Given the description of an element on the screen output the (x, y) to click on. 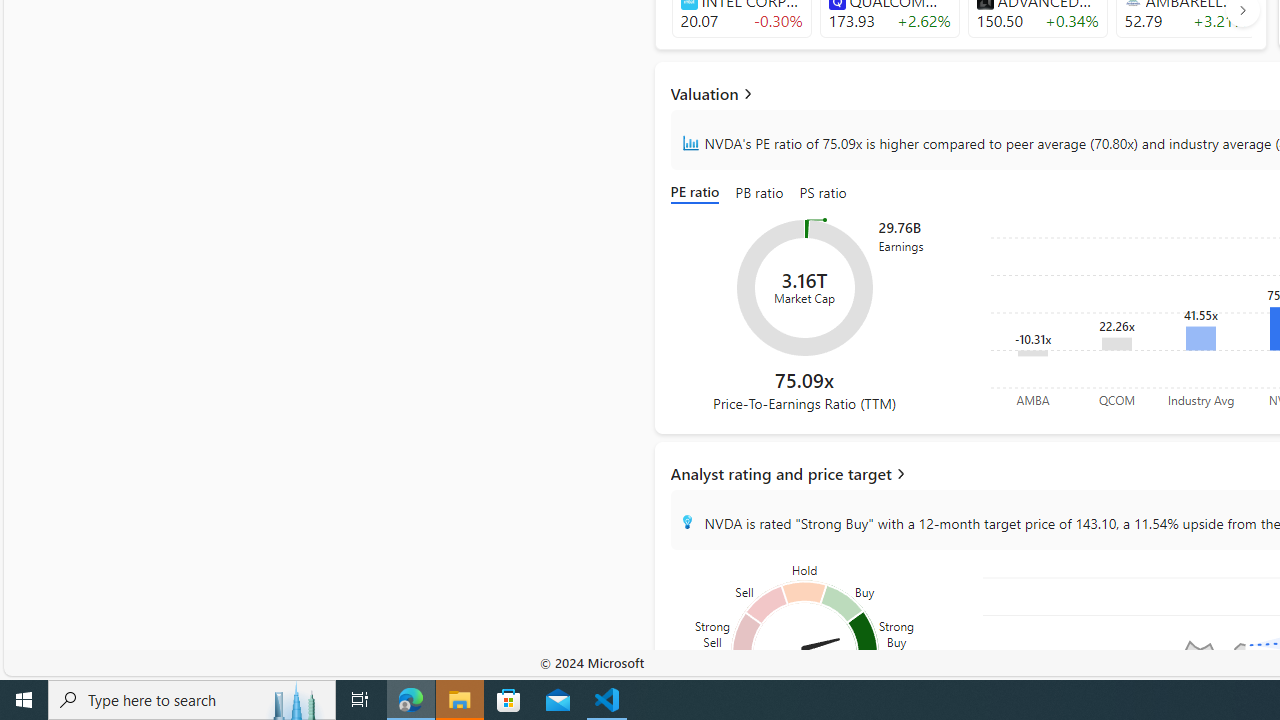
AutomationID: finance_carousel_navi_arrow (1242, 10)
PB ratio (759, 193)
Class: recharts-surface (804, 287)
PS ratio (823, 193)
PE ratio (698, 193)
